Given the description of an element on the screen output the (x, y) to click on. 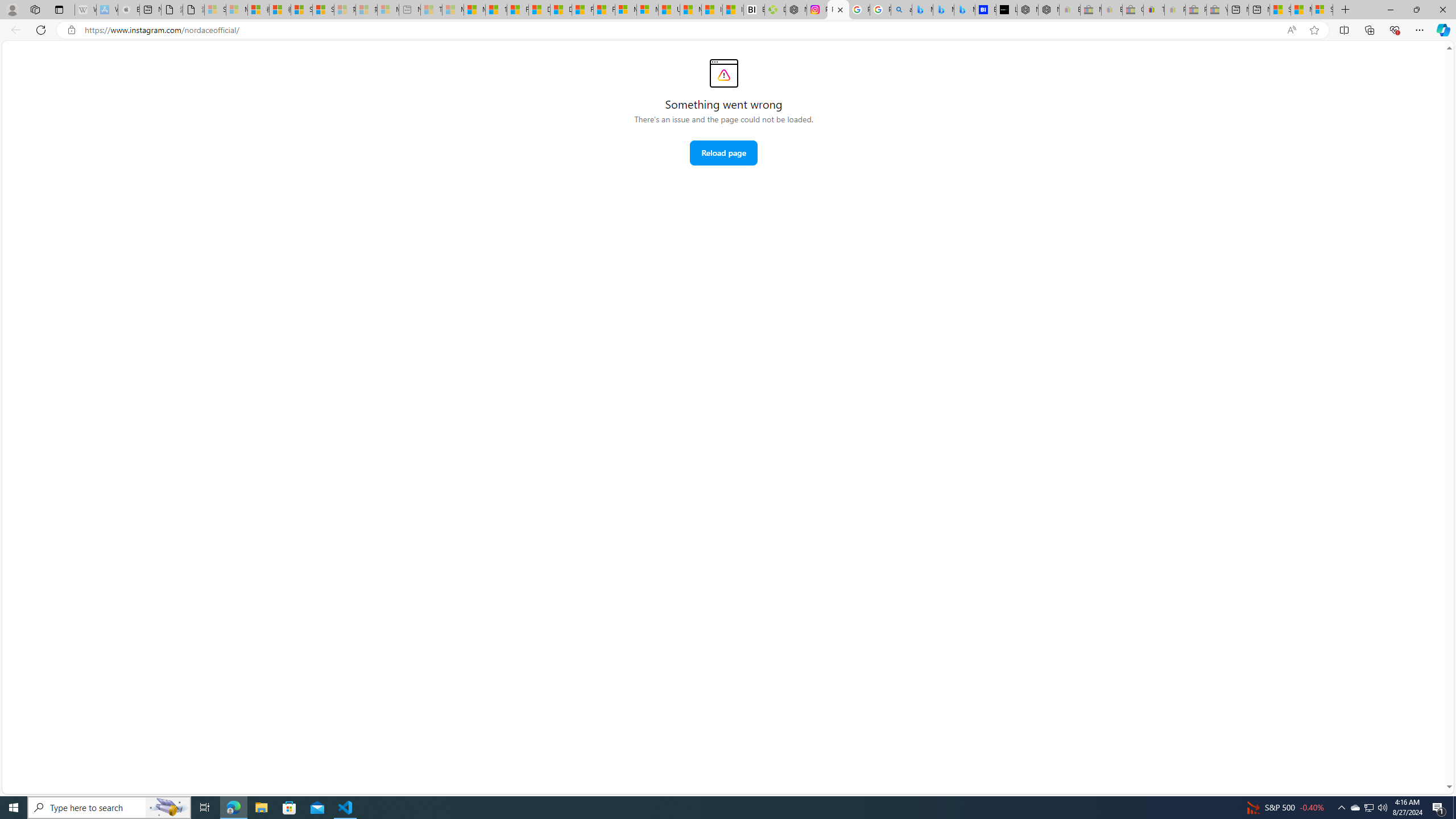
US Heat Deaths Soared To Record High Last Year (668, 9)
Threats and offensive language policy | eBay (1153, 9)
Drinking tea every day is proven to delay biological aging (561, 9)
Press Room - eBay Inc. - Sleeping (1195, 9)
Reload page (723, 152)
Yard, Garden & Outdoor Living - Sleeping (1216, 9)
Foo BAR | Trusted Community Engagement and Contributions (604, 9)
